Given the description of an element on the screen output the (x, y) to click on. 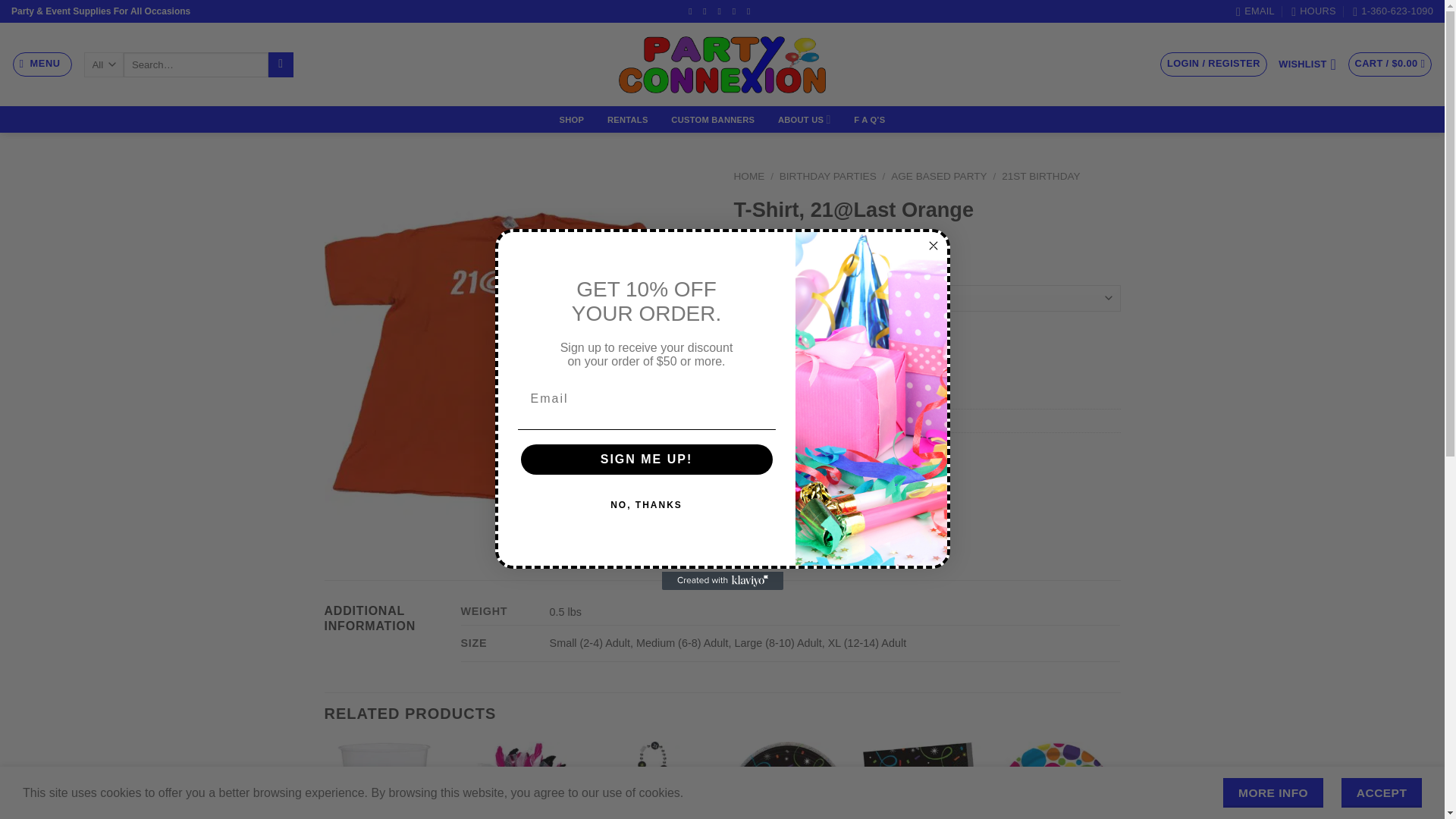
BIRTHDAY PARTIES (827, 175)
CUSTOM BANNERS (712, 119)
SHOP (571, 119)
WISHLIST (1307, 64)
1 (765, 352)
21ST BIRTHDAY (1040, 175)
Login (1213, 64)
HOME (749, 175)
1-360-623-1090 (1392, 11)
HOURS (1313, 11)
MENU (42, 64)
Cart (1390, 64)
AGE BASED PARTY (939, 175)
Wishlist (1307, 64)
RENTALS (627, 119)
